Given the description of an element on the screen output the (x, y) to click on. 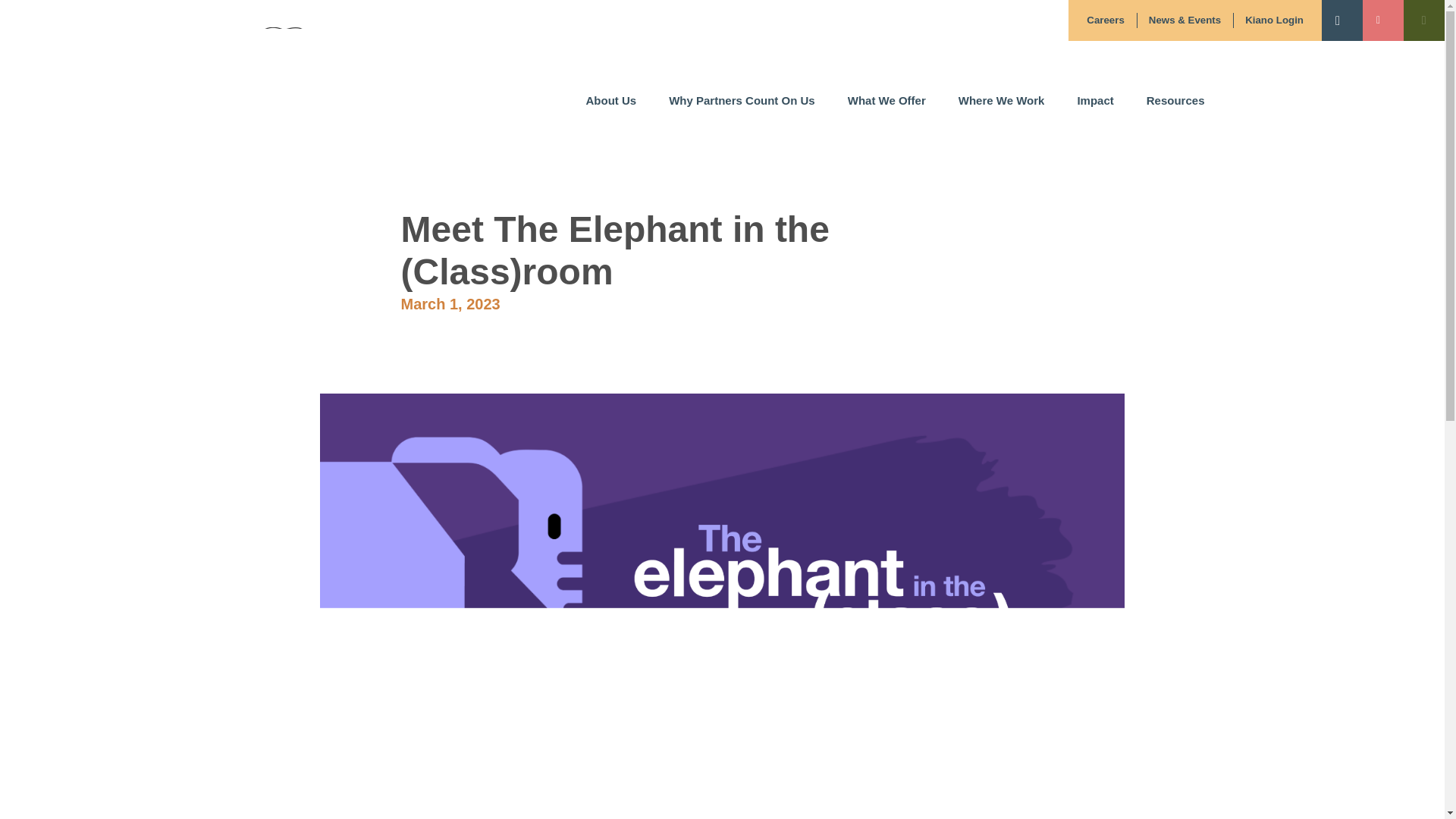
Stories (961, 151)
Student Learning (1145, 151)
Teacher Retention (1148, 151)
Supporters (815, 151)
What We Offer (886, 109)
About Us (611, 109)
Why Partners Count On Us (741, 109)
Kiano Login (1273, 20)
Coaching Cultures (919, 151)
Annual Reports (826, 151)
